Given the description of an element on the screen output the (x, y) to click on. 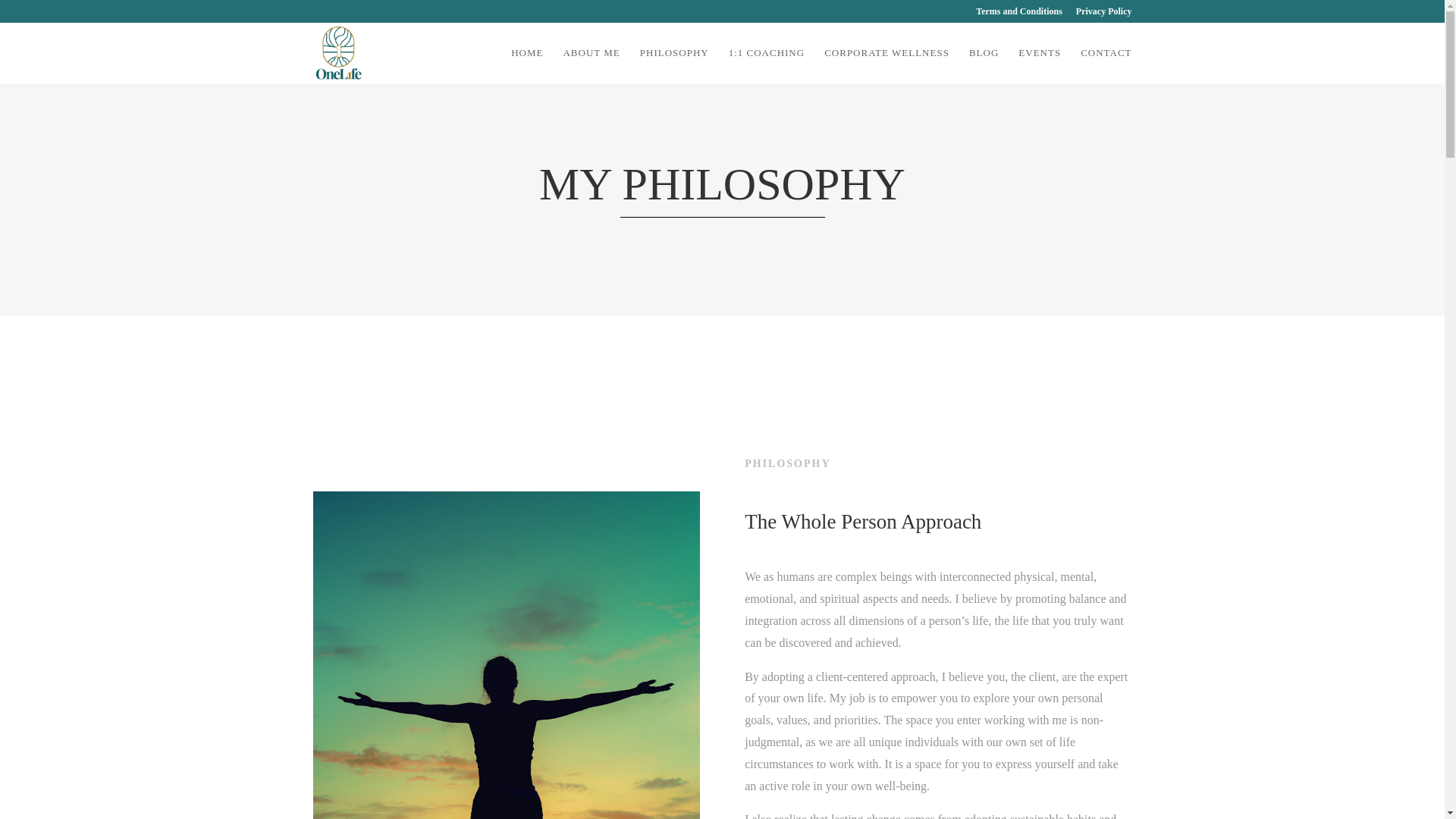
EVENTS (1039, 65)
BLOG (983, 65)
1:1 COACHING (767, 65)
PHILOSOPHY (674, 65)
ABOUT ME (591, 65)
HOME (527, 65)
CORPORATE WELLNESS (886, 65)
Silhouette happy woman on the beach at sunset. Vintage tone (505, 655)
Privacy Policy (1103, 14)
Terms and Conditions (1018, 14)
CONTACT (1105, 65)
